Given the description of an element on the screen output the (x, y) to click on. 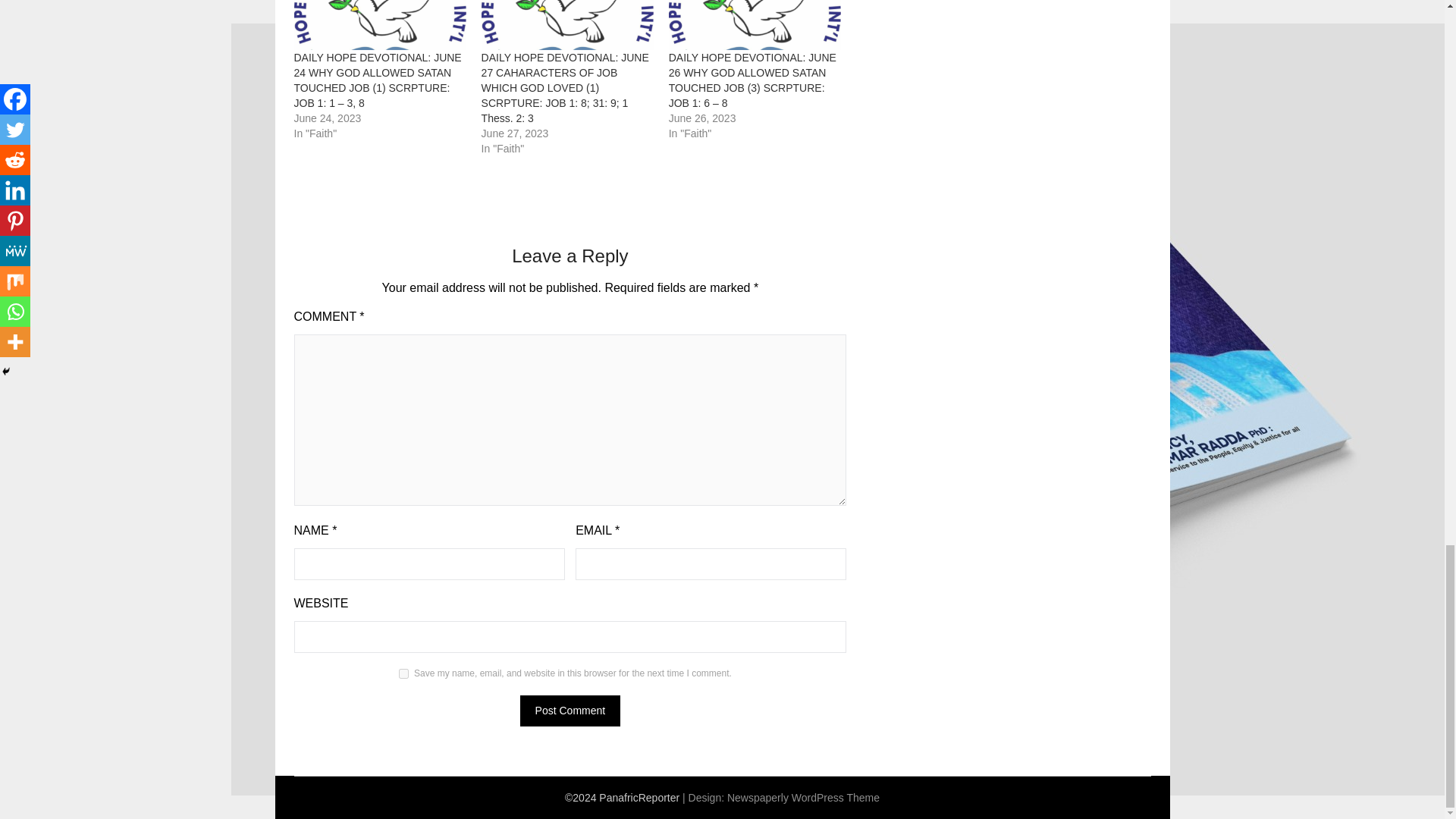
Post Comment (570, 710)
Post Comment (570, 710)
yes (403, 673)
